Given the description of an element on the screen output the (x, y) to click on. 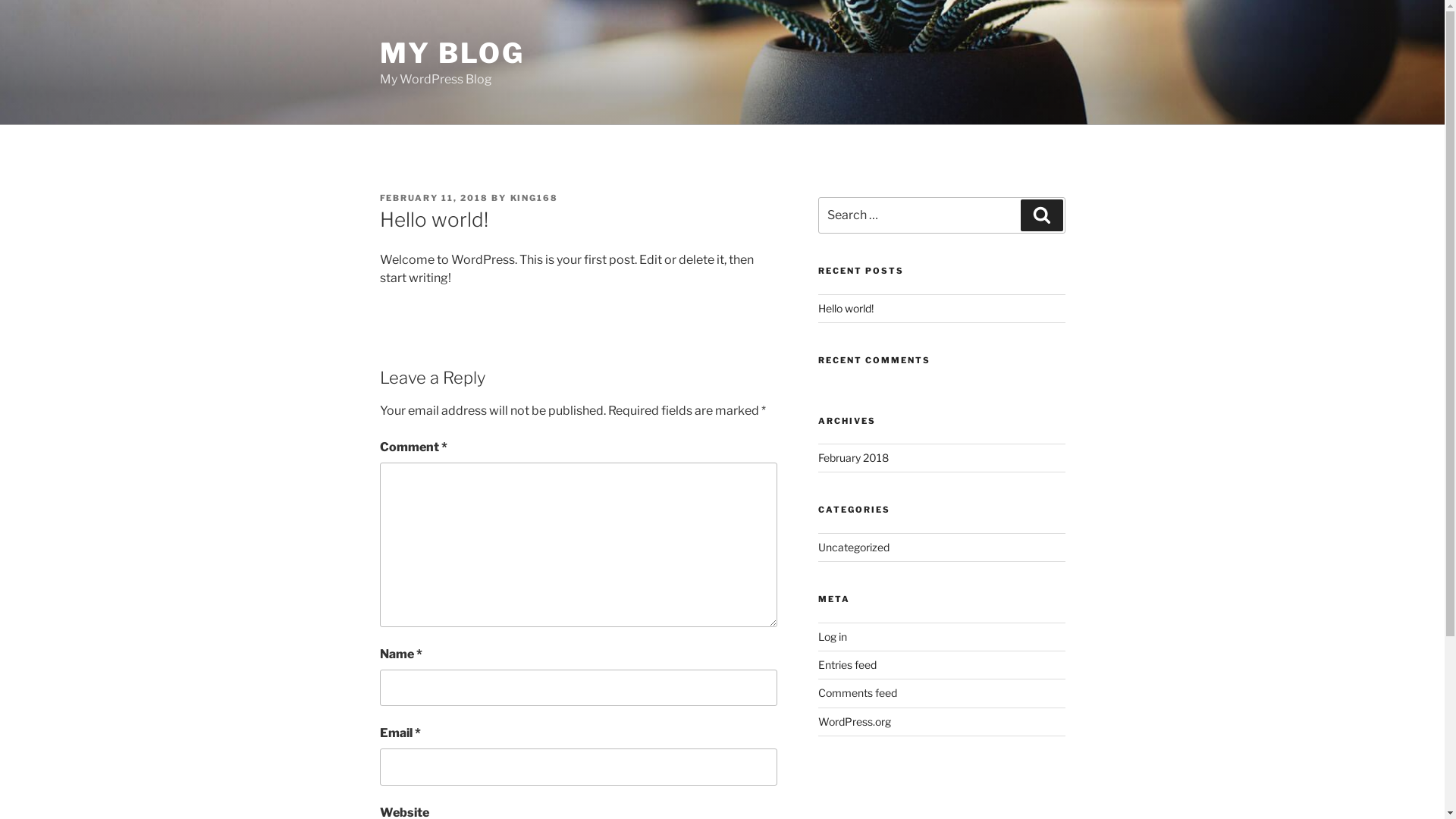
MY BLOG Element type: text (451, 52)
Entries feed Element type: text (847, 664)
February 2018 Element type: text (853, 457)
KING168 Element type: text (533, 197)
WordPress.org Element type: text (854, 721)
Uncategorized Element type: text (853, 546)
Comments feed Element type: text (857, 692)
FEBRUARY 11, 2018 Element type: text (433, 197)
Log in Element type: text (832, 635)
Search Element type: text (1041, 215)
Hello world! Element type: text (845, 307)
